Given the description of an element on the screen output the (x, y) to click on. 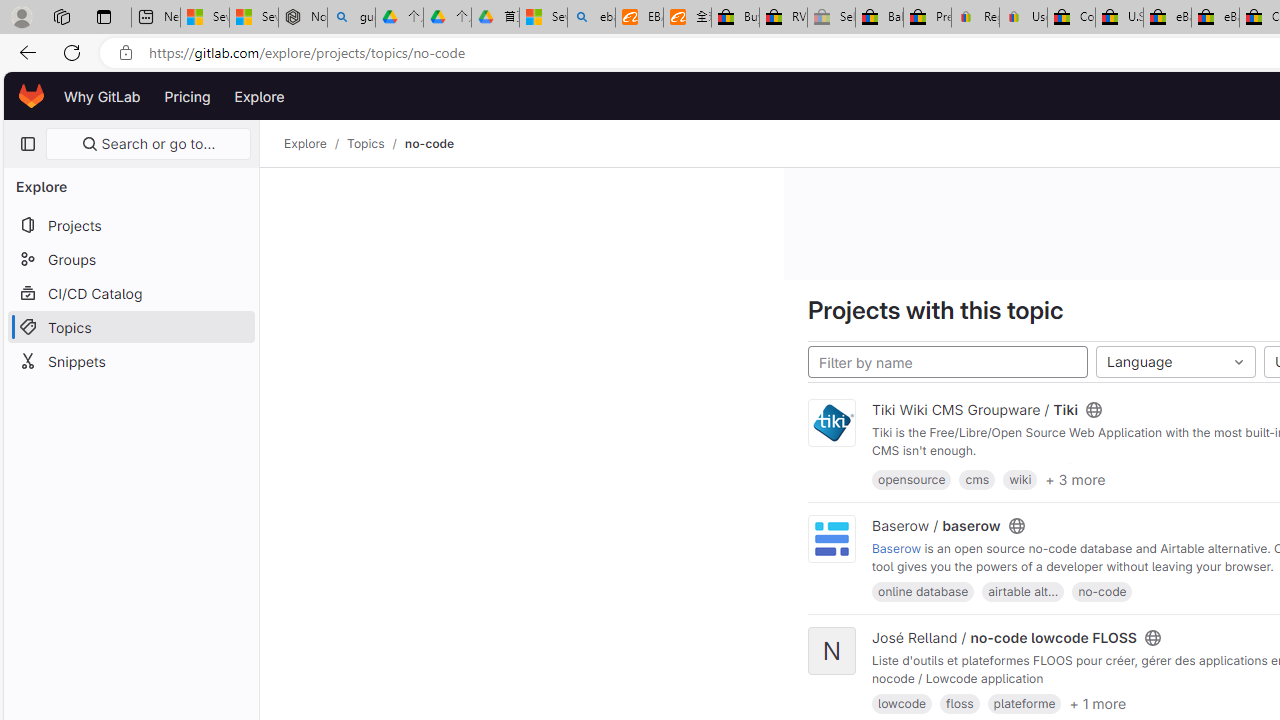
no-code (429, 143)
no-code (1101, 591)
Class: s16 dropdown-menu-toggle-icon (1238, 362)
